Given the description of an element on the screen output the (x, y) to click on. 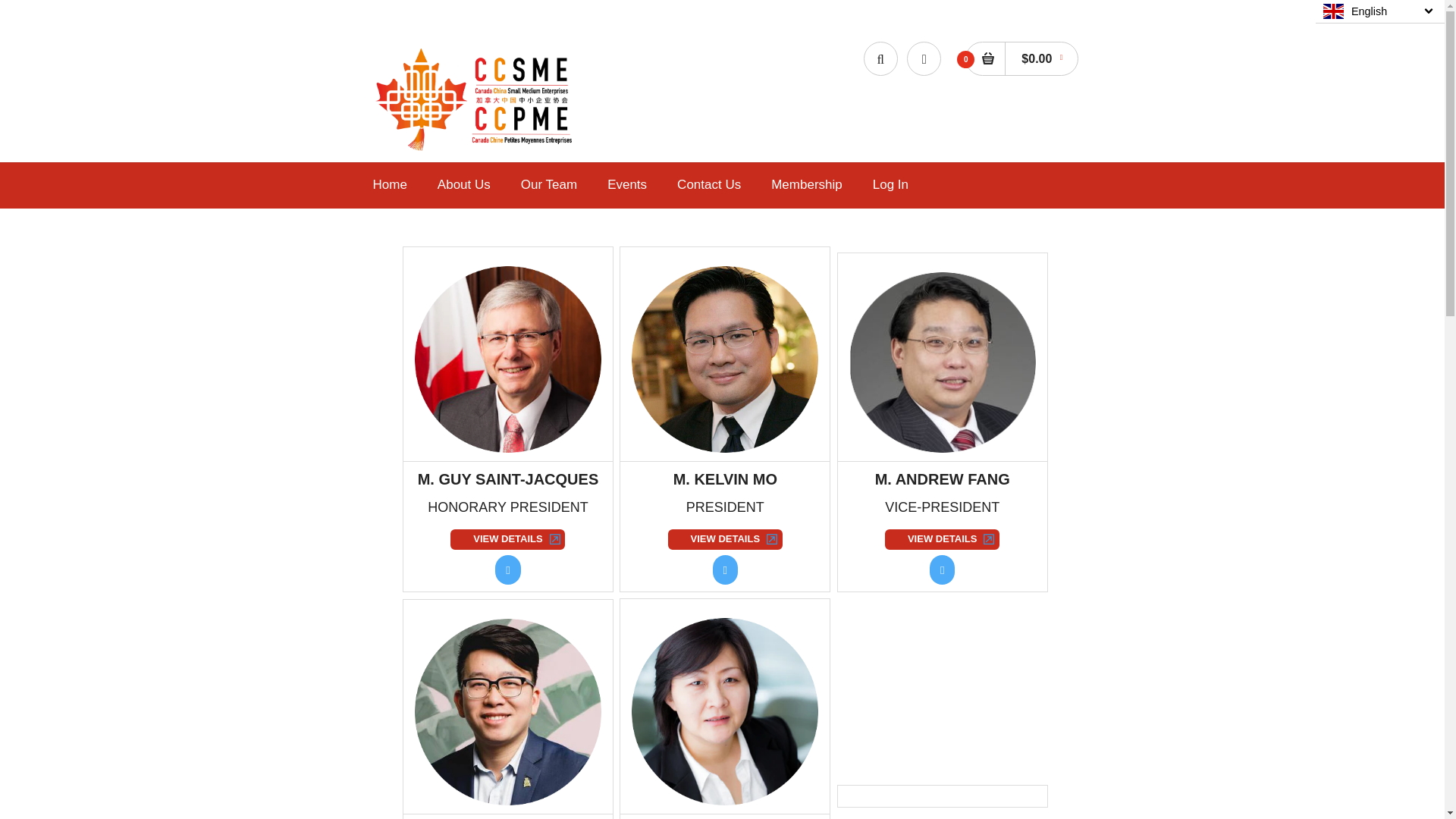
Contact Us (708, 185)
Our Team (548, 185)
ccsmes (476, 150)
Membership (807, 185)
ccsmes (476, 99)
About Us (463, 185)
Events (626, 185)
